Given the description of an element on the screen output the (x, y) to click on. 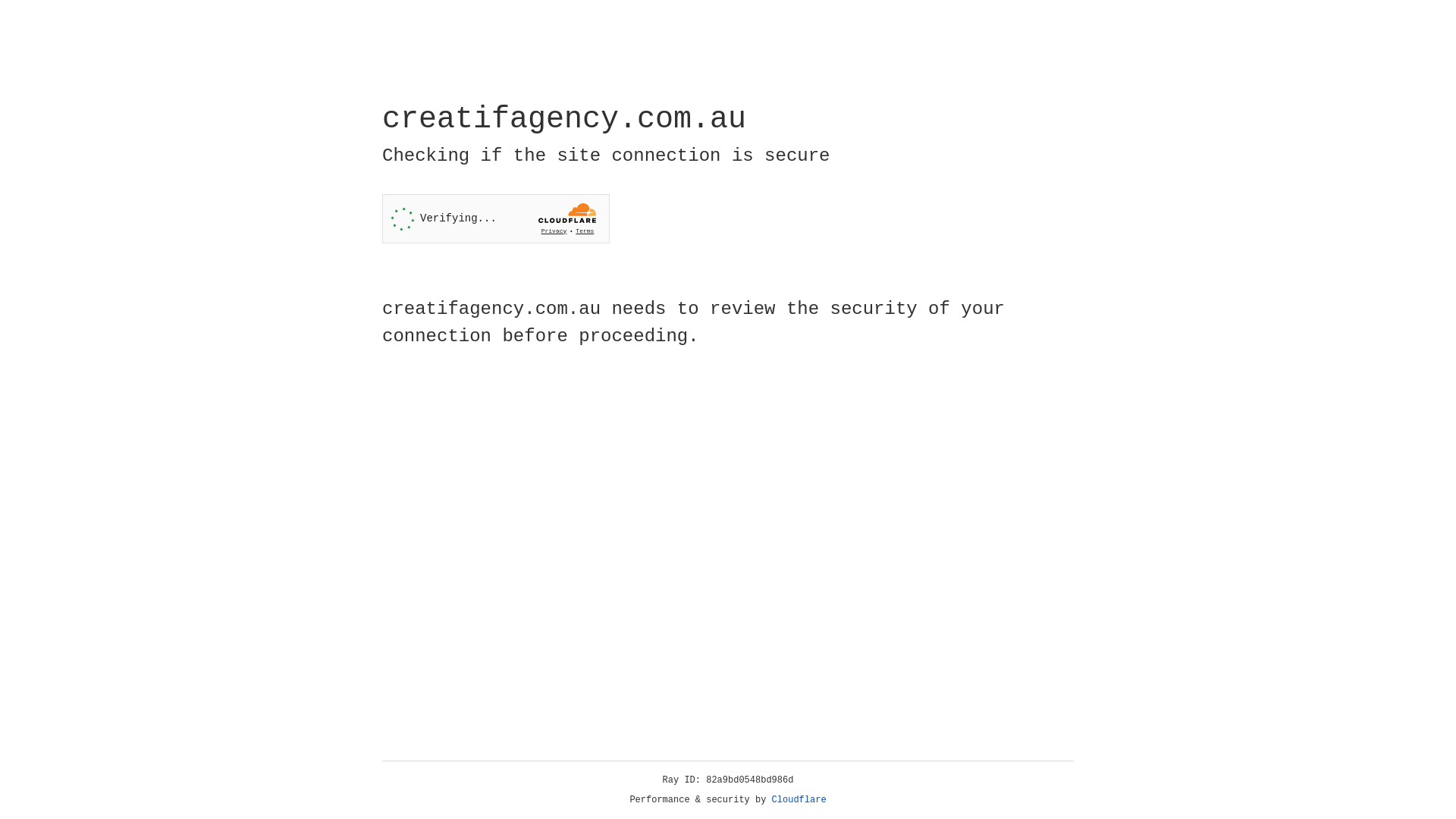
Cloudflare Element type: text (798, 799)
Widget containing a Cloudflare security challenge Element type: hover (495, 218)
